Given the description of an element on the screen output the (x, y) to click on. 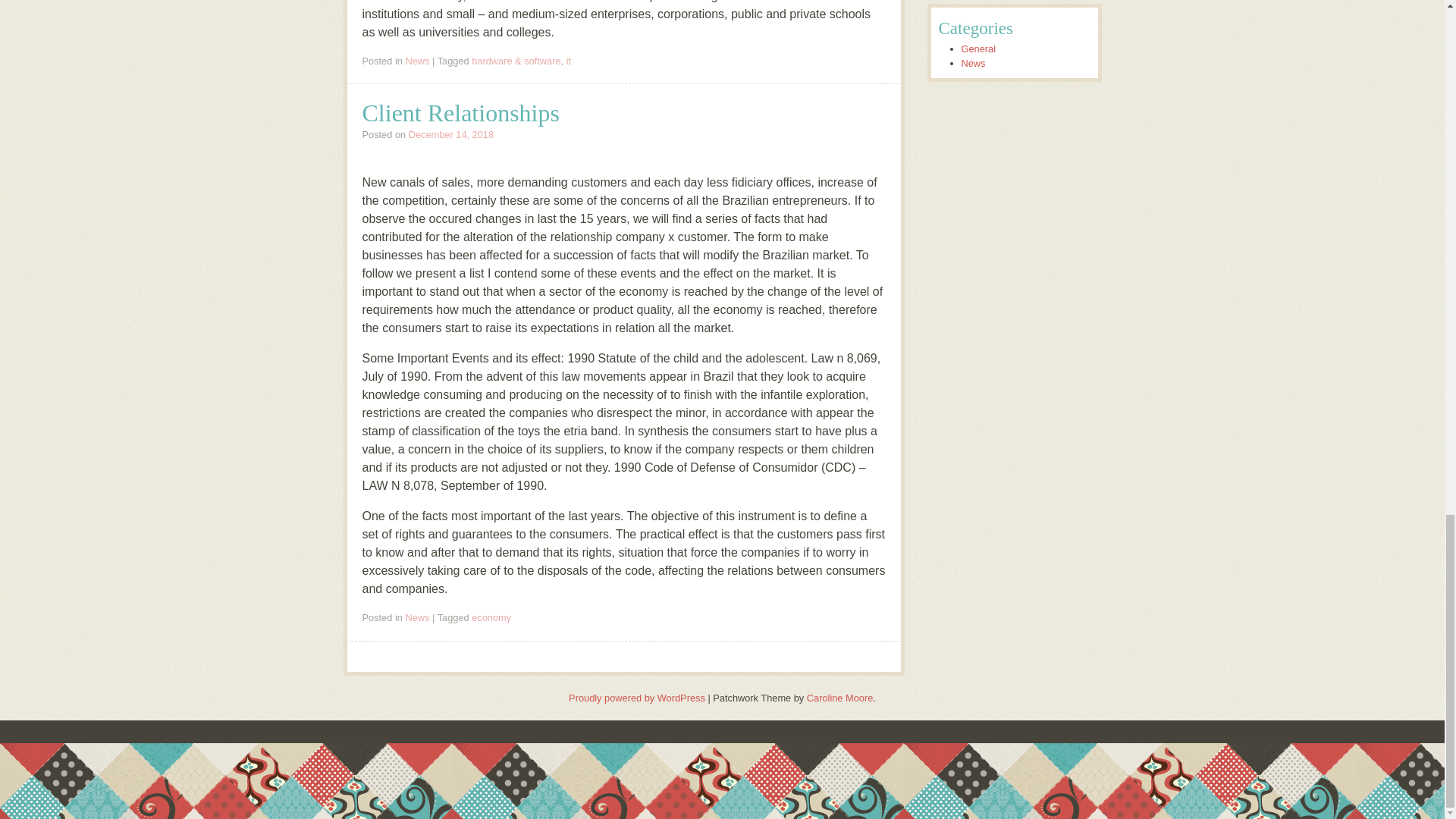
News (416, 617)
Client Relationships (460, 113)
1:57 am (451, 134)
A Semantic Personal Publishing Platform (636, 697)
Permalink to Client Relationships (460, 113)
economy (491, 617)
News (416, 60)
December 14, 2018 (451, 134)
